Given the description of an element on the screen output the (x, y) to click on. 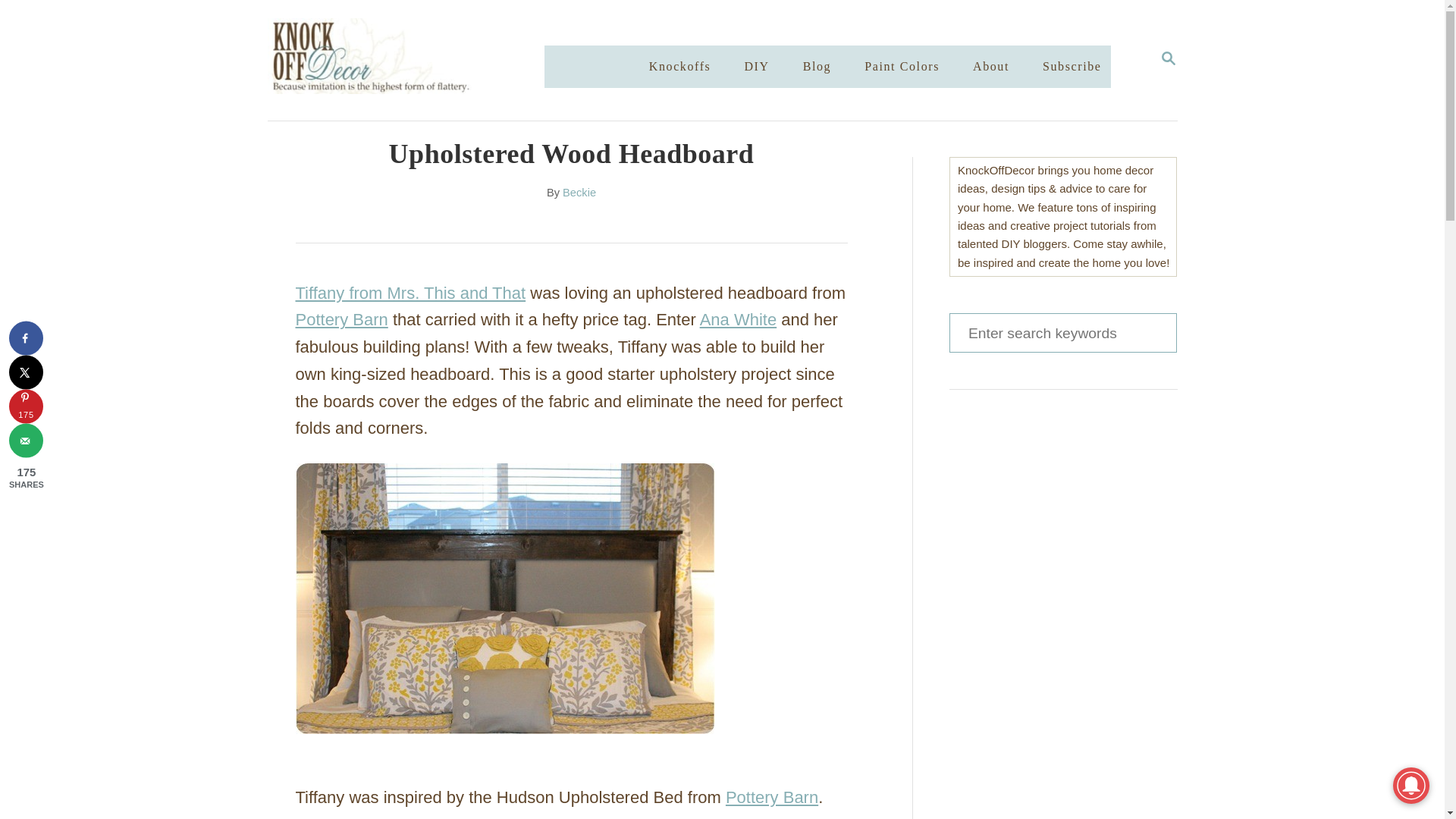
KnockOffDecor.com (420, 60)
Save to Pinterest (25, 406)
Send over email (25, 440)
Search for: (1062, 332)
MAGNIFYING GLASS (1167, 58)
About (990, 66)
Share on X (25, 372)
diy upholstered linen headboard (504, 600)
Blog (817, 66)
Beckie (578, 192)
DIY (756, 66)
Paint Colors (1167, 59)
Knockoffs (902, 66)
Subscribe (680, 66)
